Given the description of an element on the screen output the (x, y) to click on. 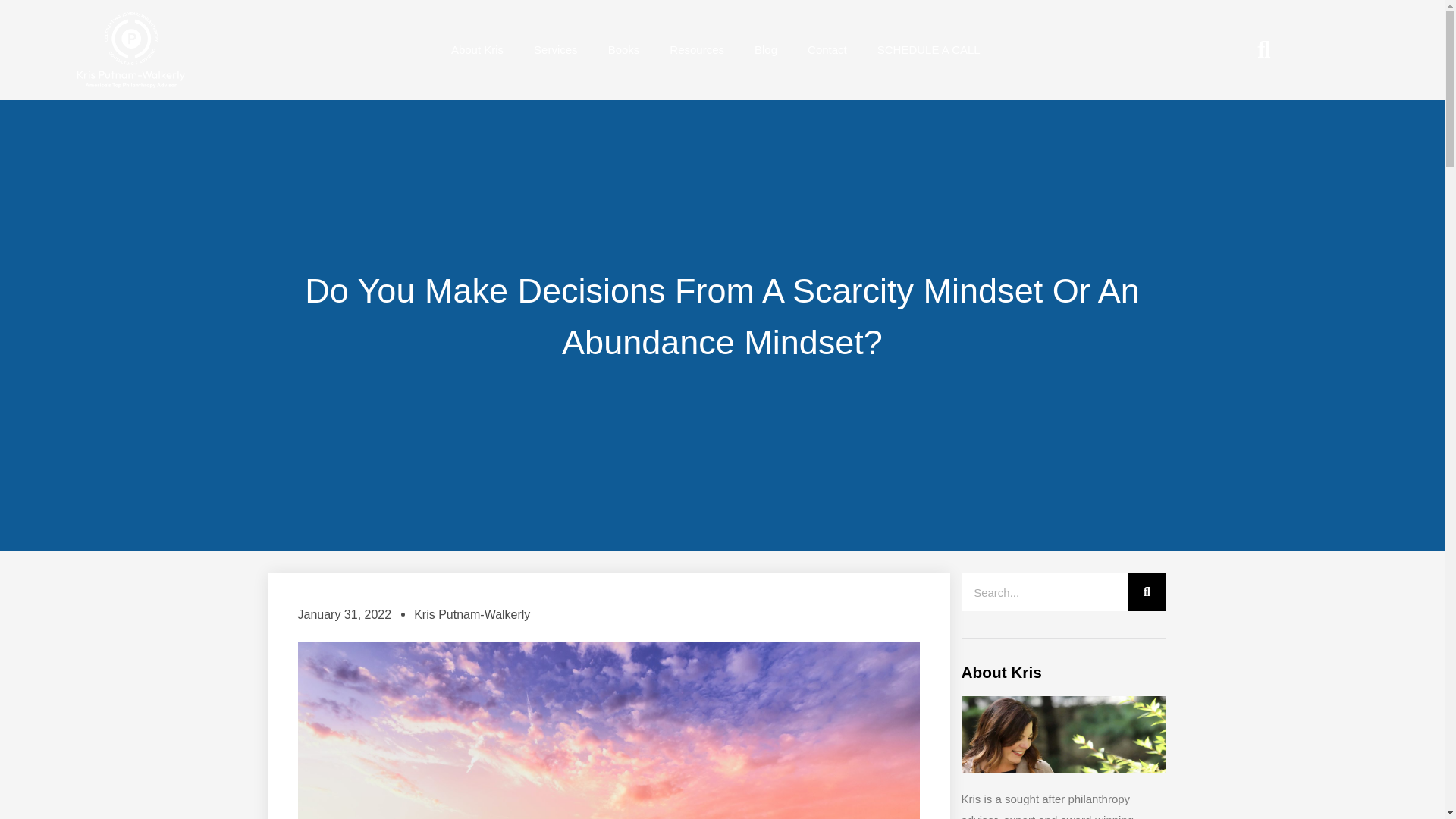
Services (555, 49)
Contact (826, 49)
About Kris (476, 49)
SCHEDULE A CALL (928, 49)
Resources (696, 49)
